Given the description of an element on the screen output the (x, y) to click on. 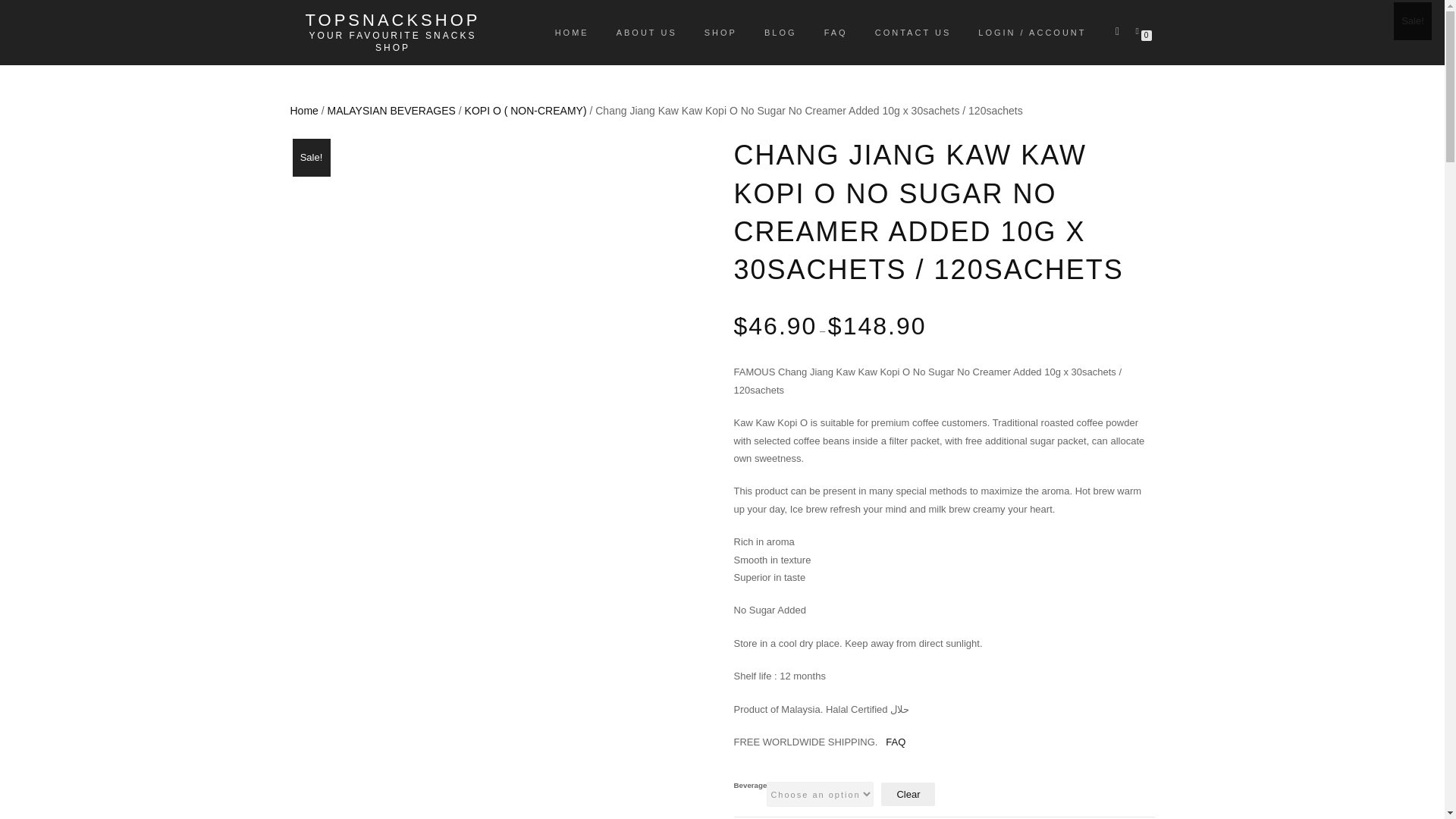
SHOP (720, 32)
0 (1139, 30)
View your shopping cart (1139, 30)
TOPSNACKSHOP (392, 20)
Home (303, 110)
ABOUT US (646, 32)
YOUR FAVOURITE SNACKS SHOP (392, 41)
FAQ (835, 32)
MALAYSIAN BEVERAGES (391, 110)
CONTACT US (912, 32)
TOPSNACKSHOP (392, 20)
your favourite snacks shop (392, 41)
Clear (907, 793)
BLOG (780, 32)
HOME (571, 32)
